Given the description of an element on the screen output the (x, y) to click on. 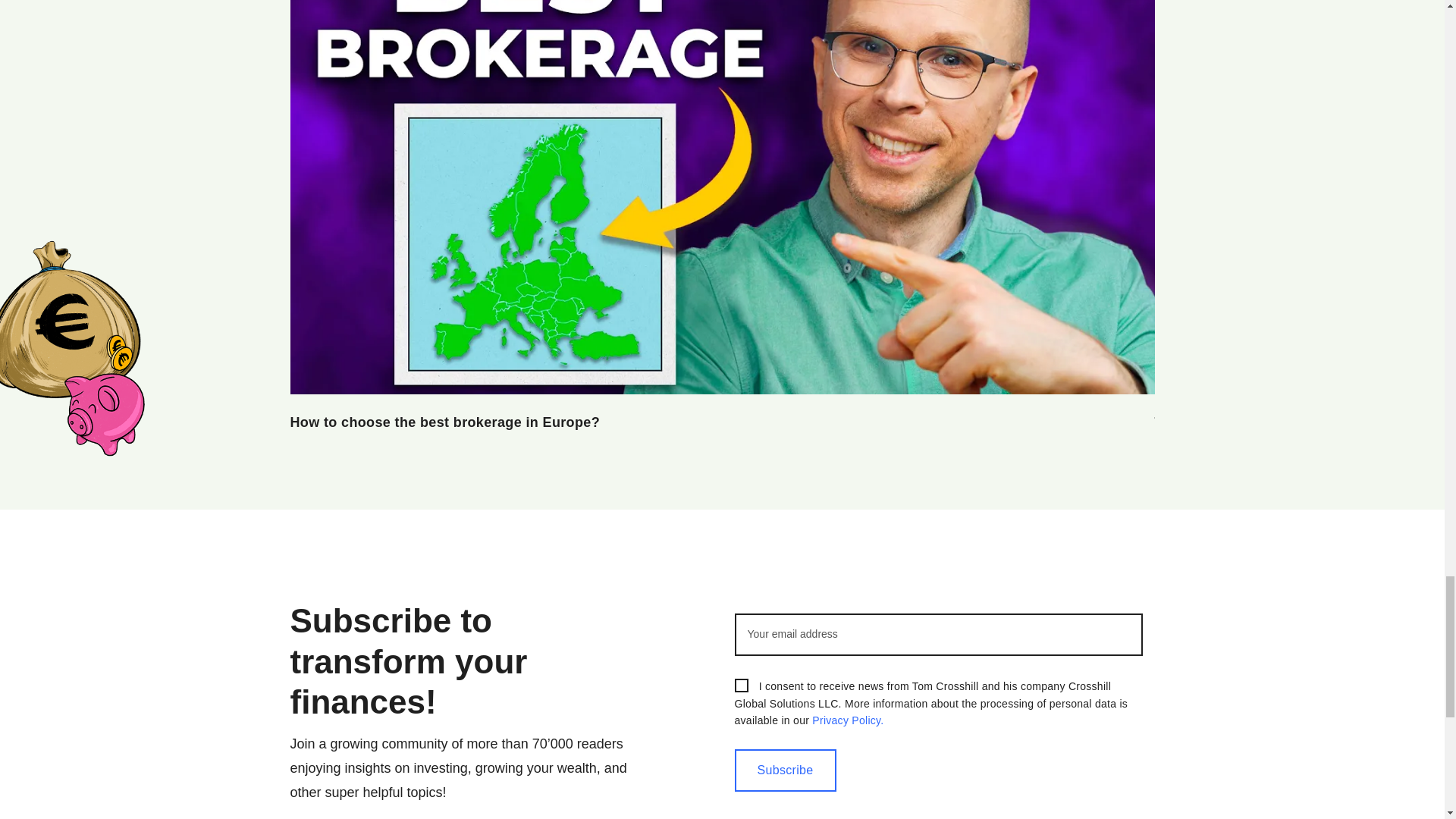
How to choose the best brokerage in Europe? (444, 421)
Subscribe (784, 770)
1 (740, 685)
